Given the description of an element on the screen output the (x, y) to click on. 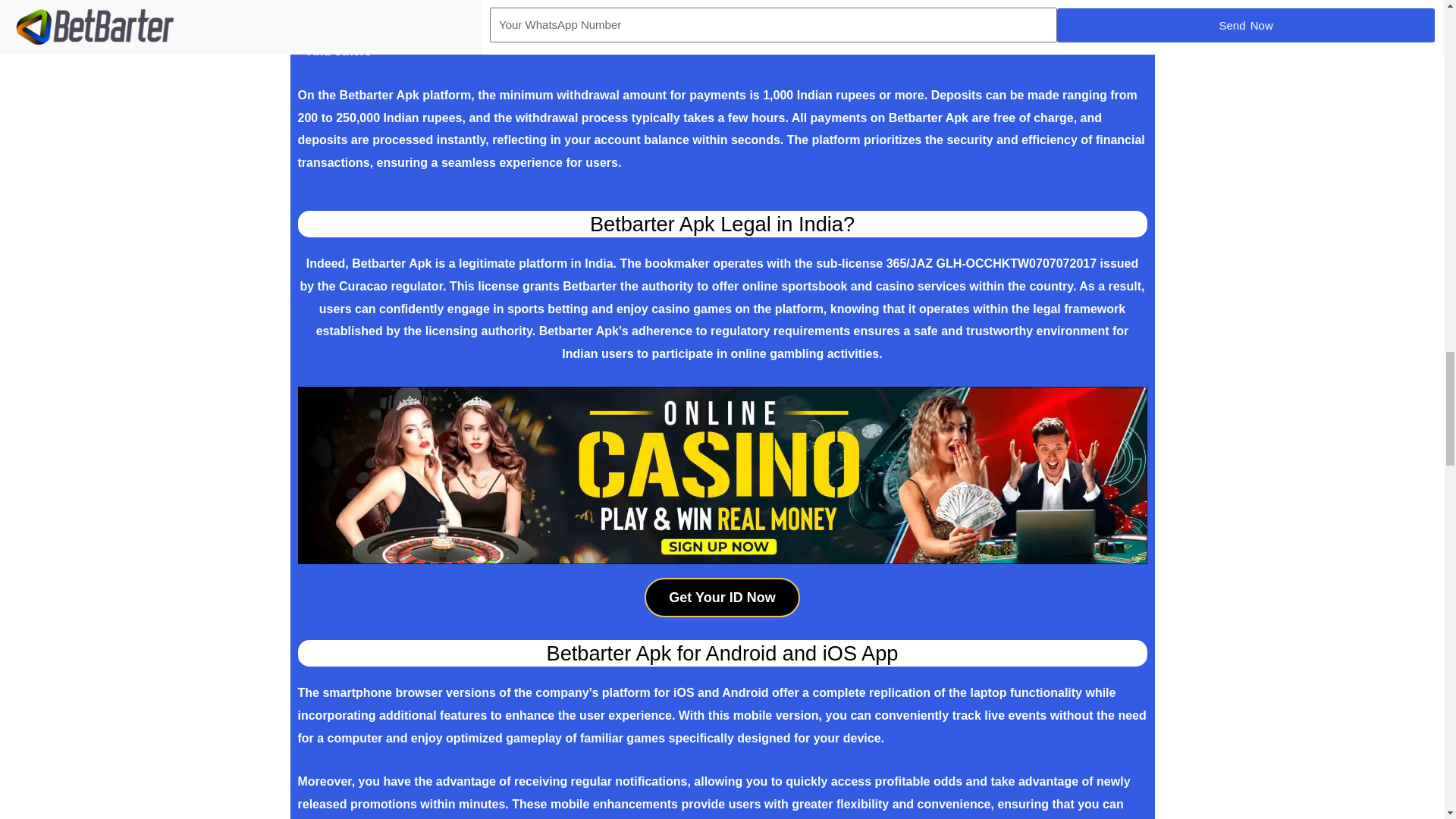
Get Your ID Now (722, 597)
